Given the description of an element on the screen output the (x, y) to click on. 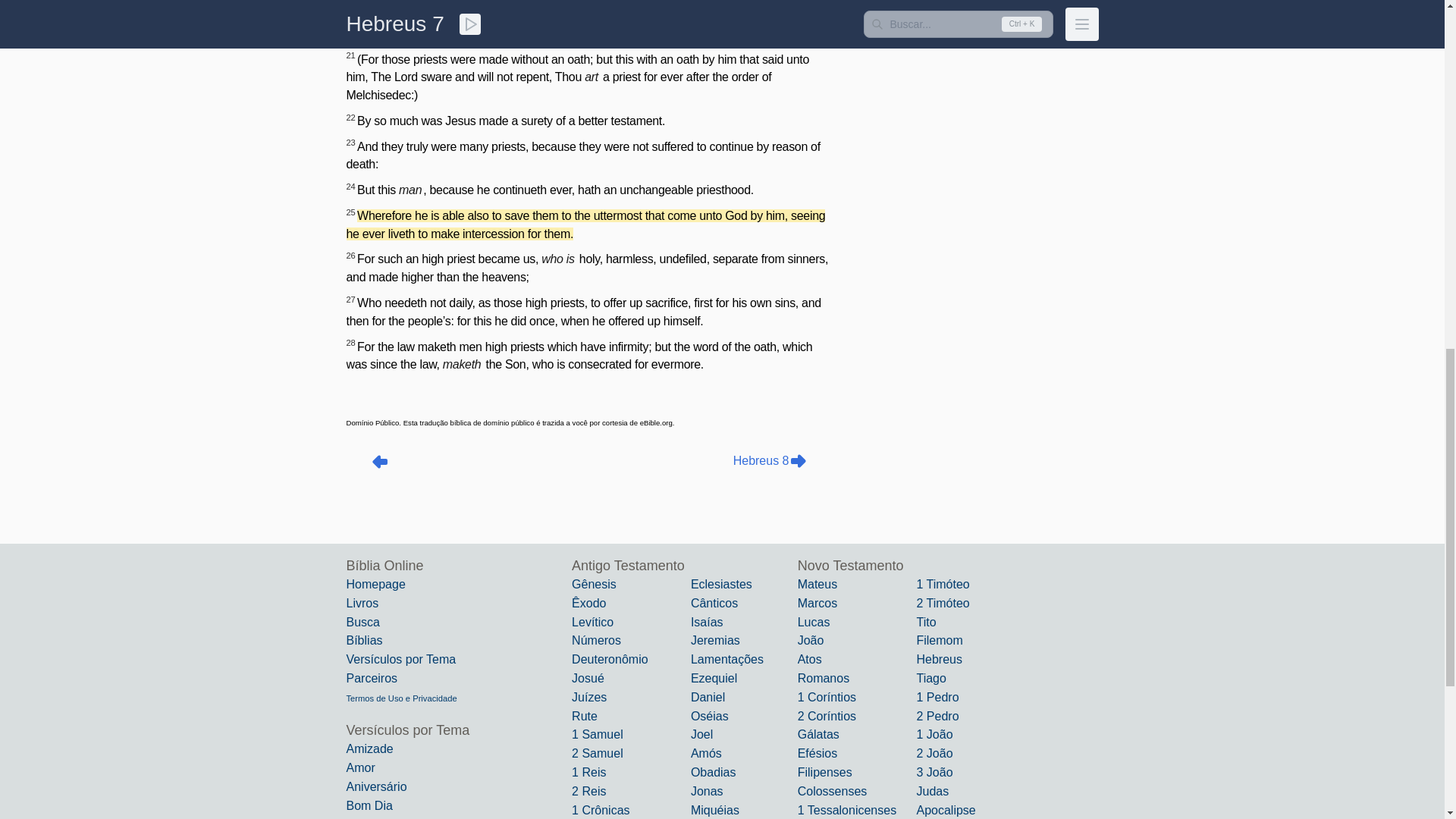
Hebreus 8 (770, 461)
Livros (362, 603)
Busca (362, 621)
Amor (360, 767)
Casamento (376, 818)
Bom Dia (368, 805)
Amizade (369, 748)
Termos de Uso e Privacidade (401, 697)
Parceiros (371, 677)
Homepage (375, 584)
